Given the description of an element on the screen output the (x, y) to click on. 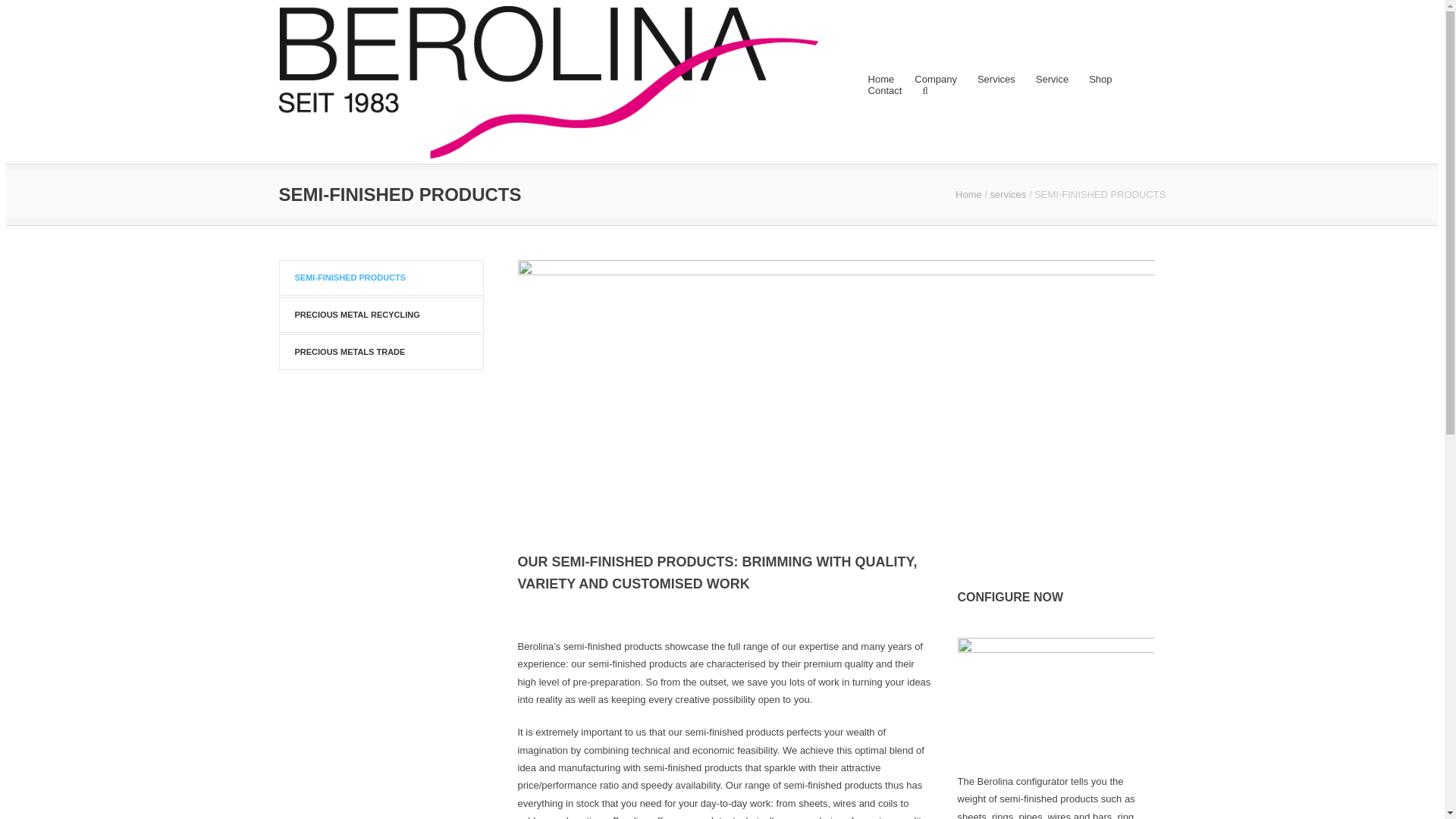
Home (881, 79)
Services (996, 79)
konfigurator (1055, 692)
Company (936, 79)
